Given the description of an element on the screen output the (x, y) to click on. 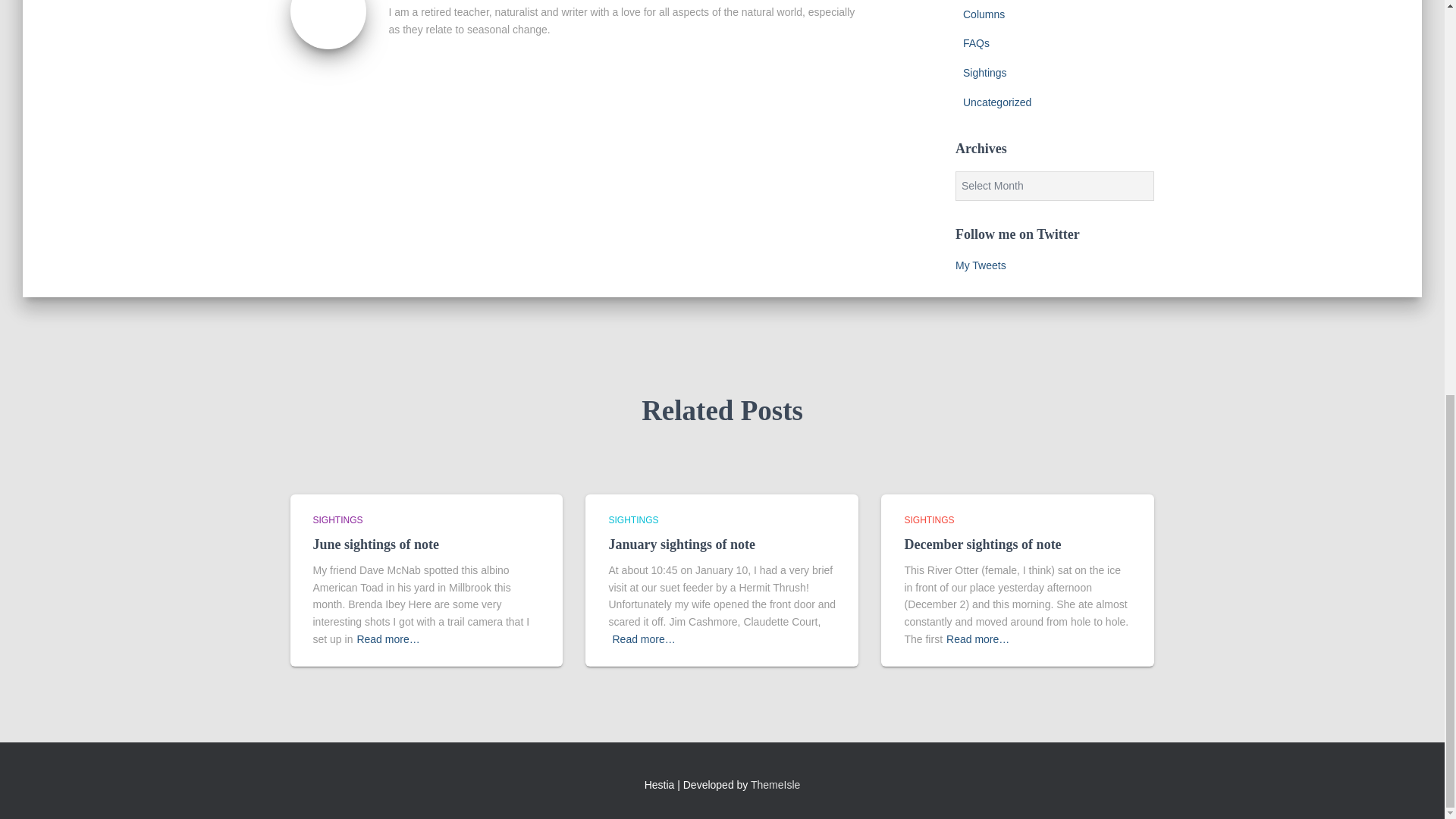
FAQs (976, 42)
Drew Monkman (327, 10)
January sightings of note (681, 544)
Uncategorized (996, 102)
My Tweets (980, 265)
SIGHTINGS (337, 520)
Sightings (984, 72)
Columns (983, 14)
SIGHTINGS (633, 520)
June sightings of note (376, 544)
